Given the description of an element on the screen output the (x, y) to click on. 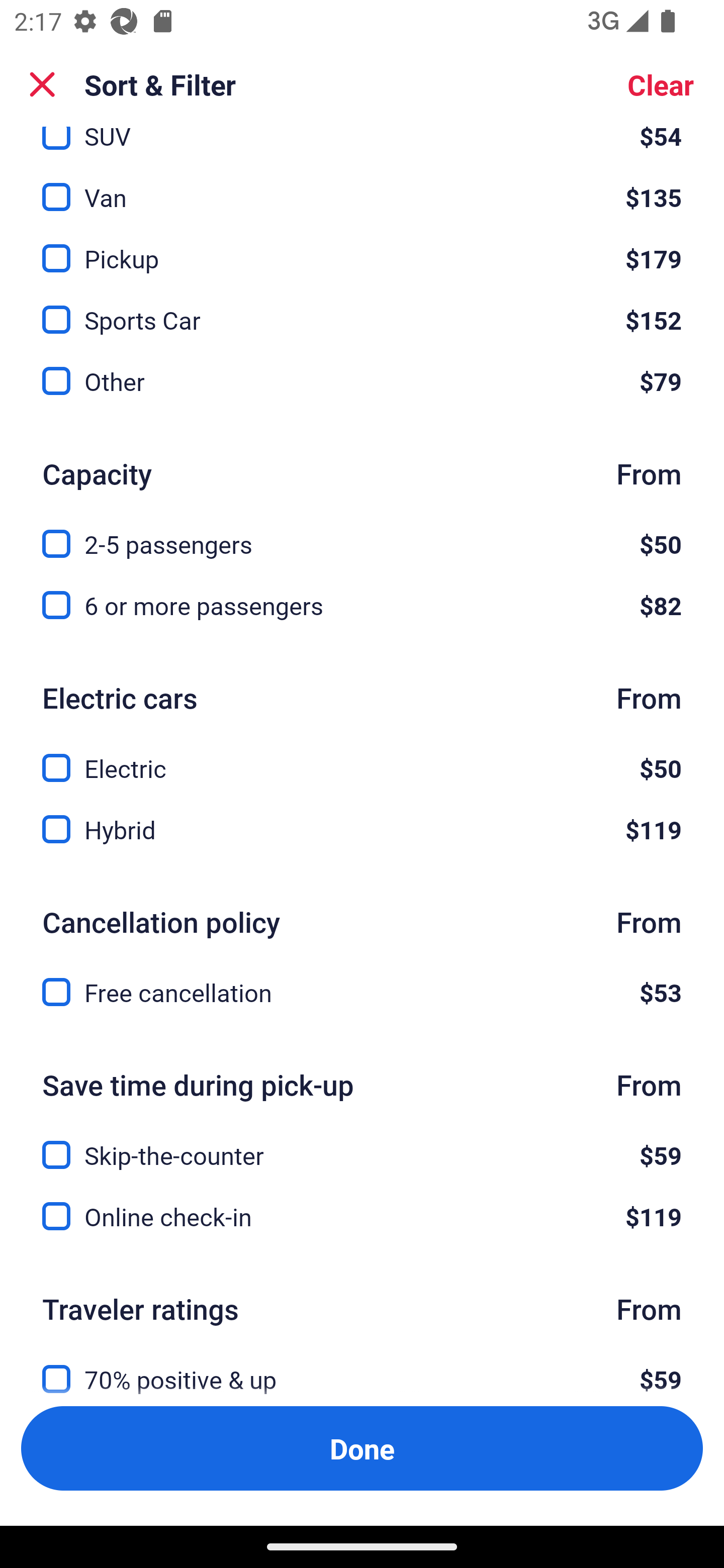
Close Sort and Filter (42, 84)
Clear (660, 84)
SUV, $54 SUV $54 (361, 141)
Van, $135 Van $135 (361, 185)
Pickup, $179 Pickup $179 (361, 246)
Sports Car, $152 Sports Car $152 (361, 307)
Other, $79 Other $79 (361, 380)
2-5 passengers, $50 2-5 passengers $50 (361, 531)
6 or more passengers, $82 6 or more passengers $82 (361, 604)
Electric, $50 Electric $50 (361, 756)
Hybrid, $119 Hybrid $119 (361, 829)
Free cancellation, $53 Free cancellation $53 (361, 992)
Skip-the-counter, $59 Skip-the-counter $59 (361, 1143)
Online check-in, $119 Online check-in $119 (361, 1216)
70% positive & up, $59 70% positive & up $59 (361, 1367)
Apply and close Sort and Filter Done (361, 1448)
